Given the description of an element on the screen output the (x, y) to click on. 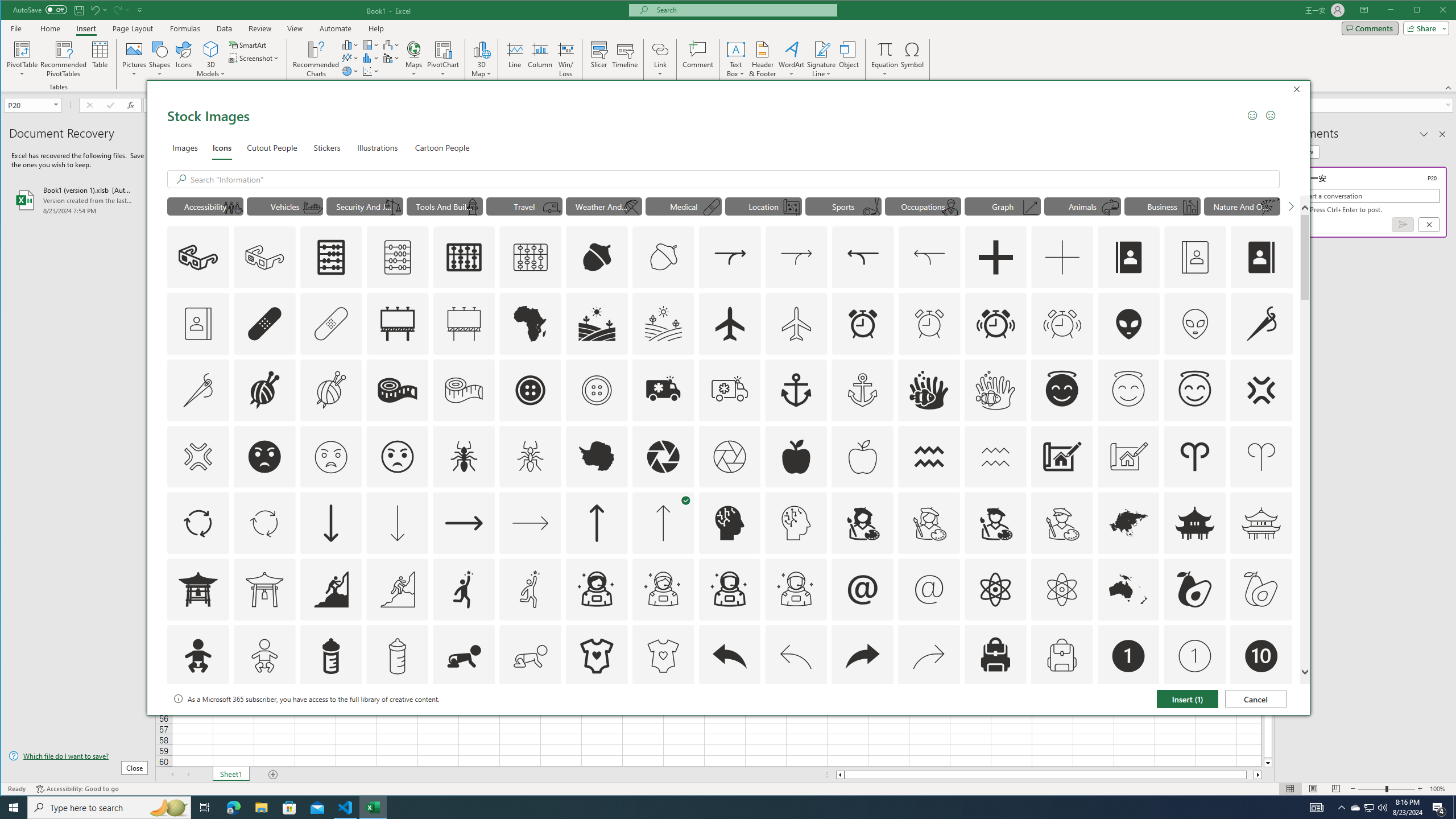
AutomationID: Icons_ArtificialIntelligence_M (796, 522)
Recommended PivotTables (63, 59)
User Promoted Notification Area (1368, 807)
AutomationID: Icons_Aquarius (928, 456)
Link (659, 59)
AutomationID: Icons_UniversalAccess_M (232, 207)
AutomationID: Icons_AngerSymbol_M (197, 456)
